Given the description of an element on the screen output the (x, y) to click on. 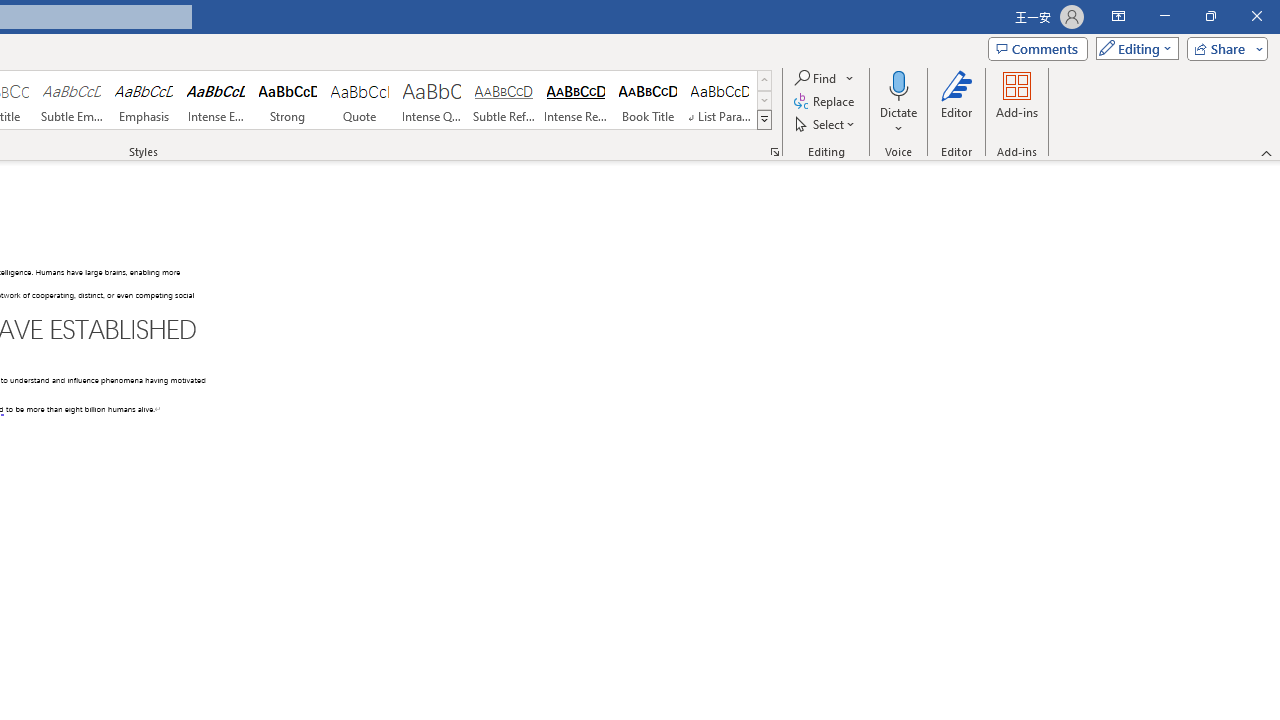
Styles... (774, 151)
Emphasis (143, 100)
Find (817, 78)
Class: NetUIImage (765, 119)
Comments (1038, 48)
Styles (763, 120)
Collapse the Ribbon (1267, 152)
Dictate (899, 84)
Intense Reference (575, 100)
Ribbon Display Options (1118, 16)
Mode (1133, 47)
Subtle Reference (504, 100)
Intense Quote (431, 100)
